Given the description of an element on the screen output the (x, y) to click on. 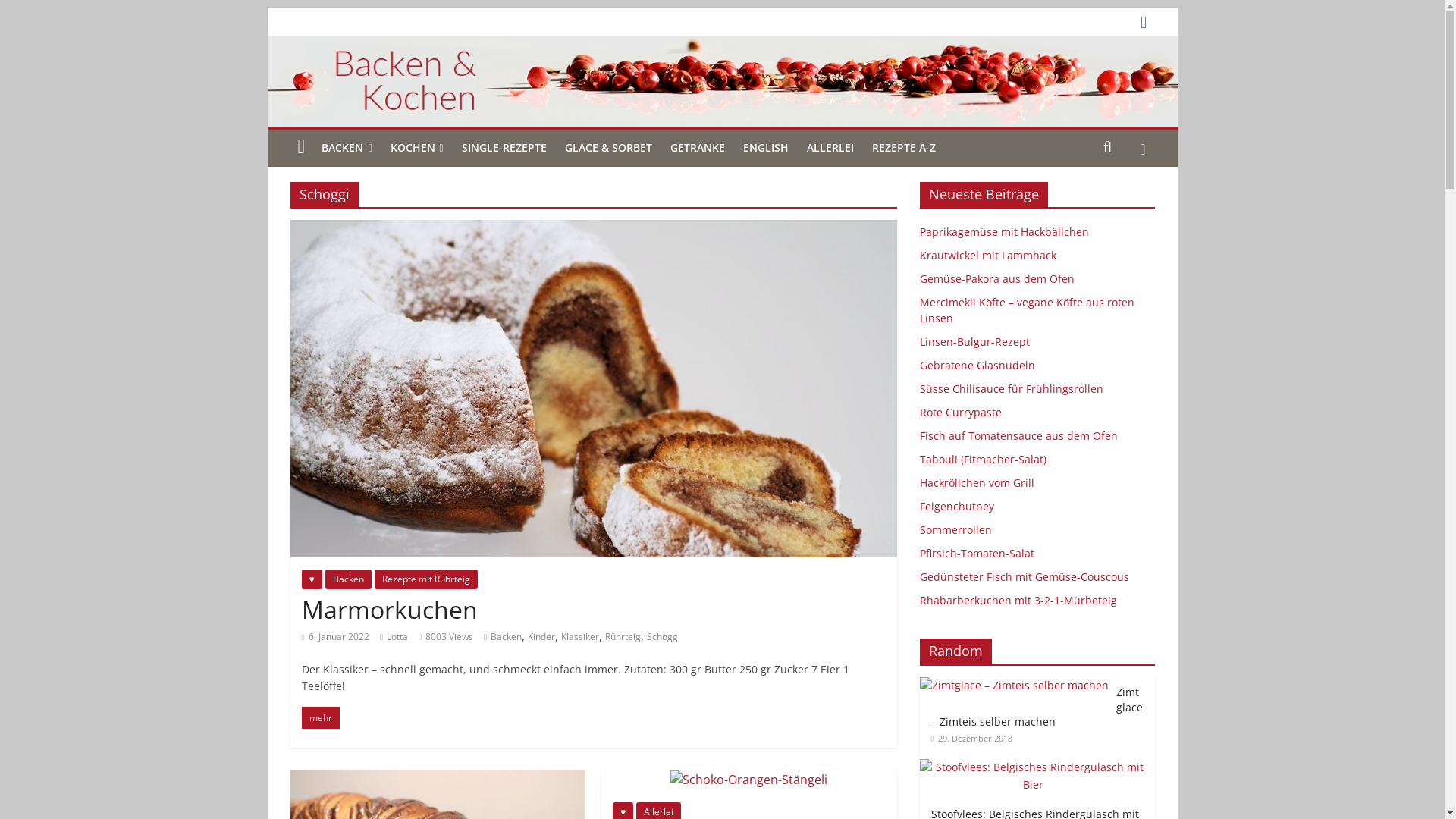
Krautwickel mit Lammhack Element type: text (987, 254)
Feigenchutney Element type: text (956, 505)
Backen Element type: text (505, 636)
GLACE & SORBET Element type: text (608, 147)
ENGLISH Element type: text (765, 147)
Marmorkuchen Element type: hover (592, 228)
View a random post Element type: hover (1142, 147)
6. Januar 2022 Element type: text (335, 636)
Schokoladen-Babka Element type: hover (437, 779)
KOCHEN Element type: text (415, 148)
mehr Element type: text (320, 717)
Fisch auf Tomatensauce aus dem Ofen Element type: text (1018, 435)
Schoggi Element type: text (663, 636)
BACKEN Element type: text (346, 148)
Marmorkuchen Element type: text (389, 609)
Pfirsich-Tomaten-Salat Element type: text (976, 553)
Klassiker Element type: text (580, 636)
Backen und Kochen Element type: hover (721, 81)
ALLERLEI Element type: text (829, 147)
Stoofvlees: Belgisches Rindergulasch mit Bier Element type: hover (1032, 776)
Gebratene Glasnudeln Element type: text (976, 364)
Rote Currypaste Element type: text (960, 411)
Sommerrollen Element type: text (955, 529)
Tabouli (Fitmacher-Salat) Element type: text (982, 458)
Stoofvlees: Belgisches Rindergulasch mit Bier Element type: hover (1036, 766)
Orangen-Schoko-Stangen Element type: hover (748, 779)
Backen und Kochen Element type: hover (300, 147)
Linsen-Bulgur-Rezept Element type: text (974, 341)
Backen Element type: text (348, 578)
SINGLE-REZEPTE Element type: text (503, 147)
29. Dezember 2018 Element type: text (972, 737)
Kinder Element type: text (541, 636)
REZEPTE A-Z Element type: text (903, 147)
Lotta Element type: text (396, 636)
